Given the description of an element on the screen output the (x, y) to click on. 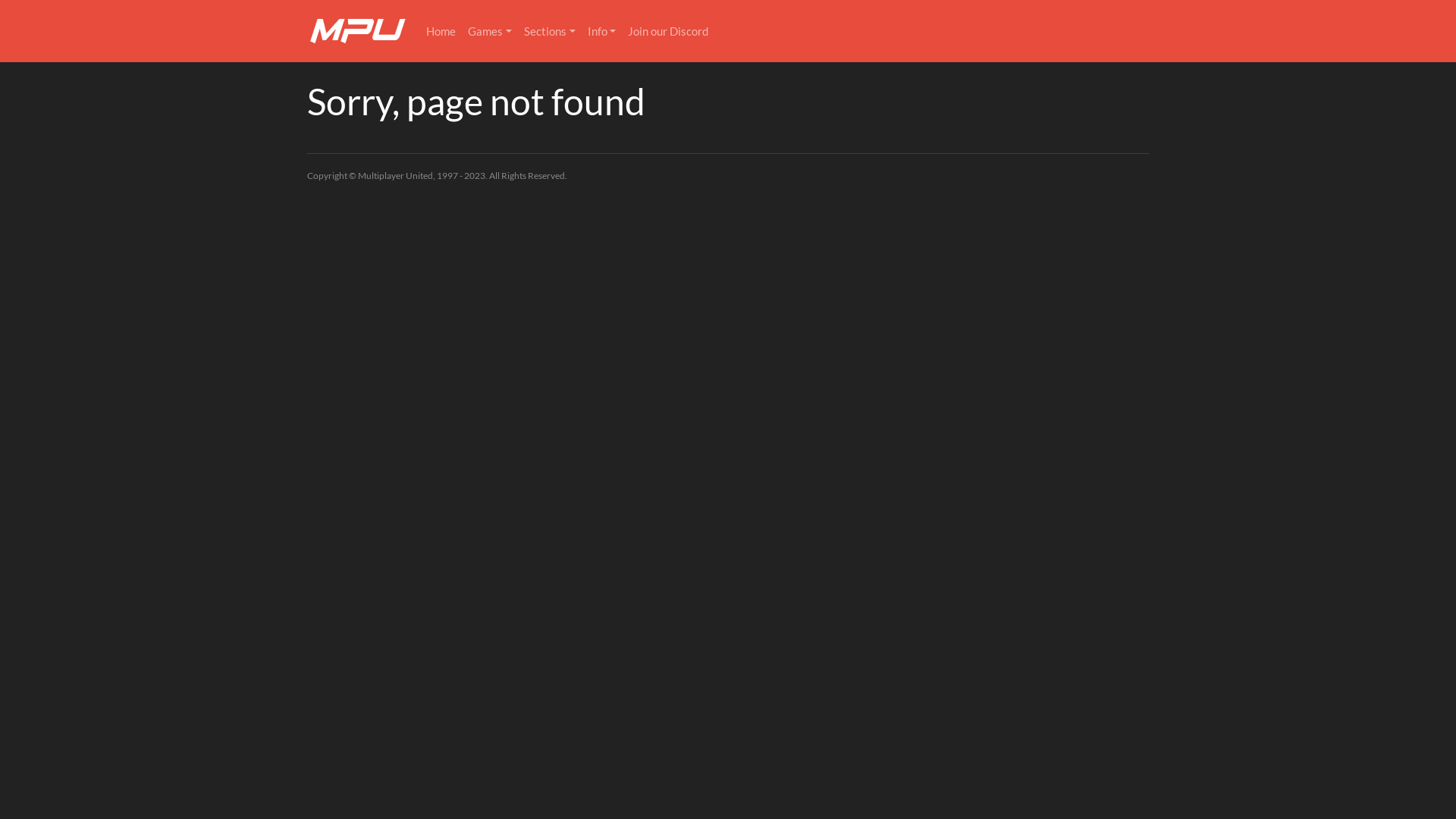
Sections Element type: text (549, 31)
Home Element type: text (440, 31)
Info Element type: text (601, 31)
Games Element type: text (489, 31)
Join our Discord Element type: text (667, 31)
